Given the description of an element on the screen output the (x, y) to click on. 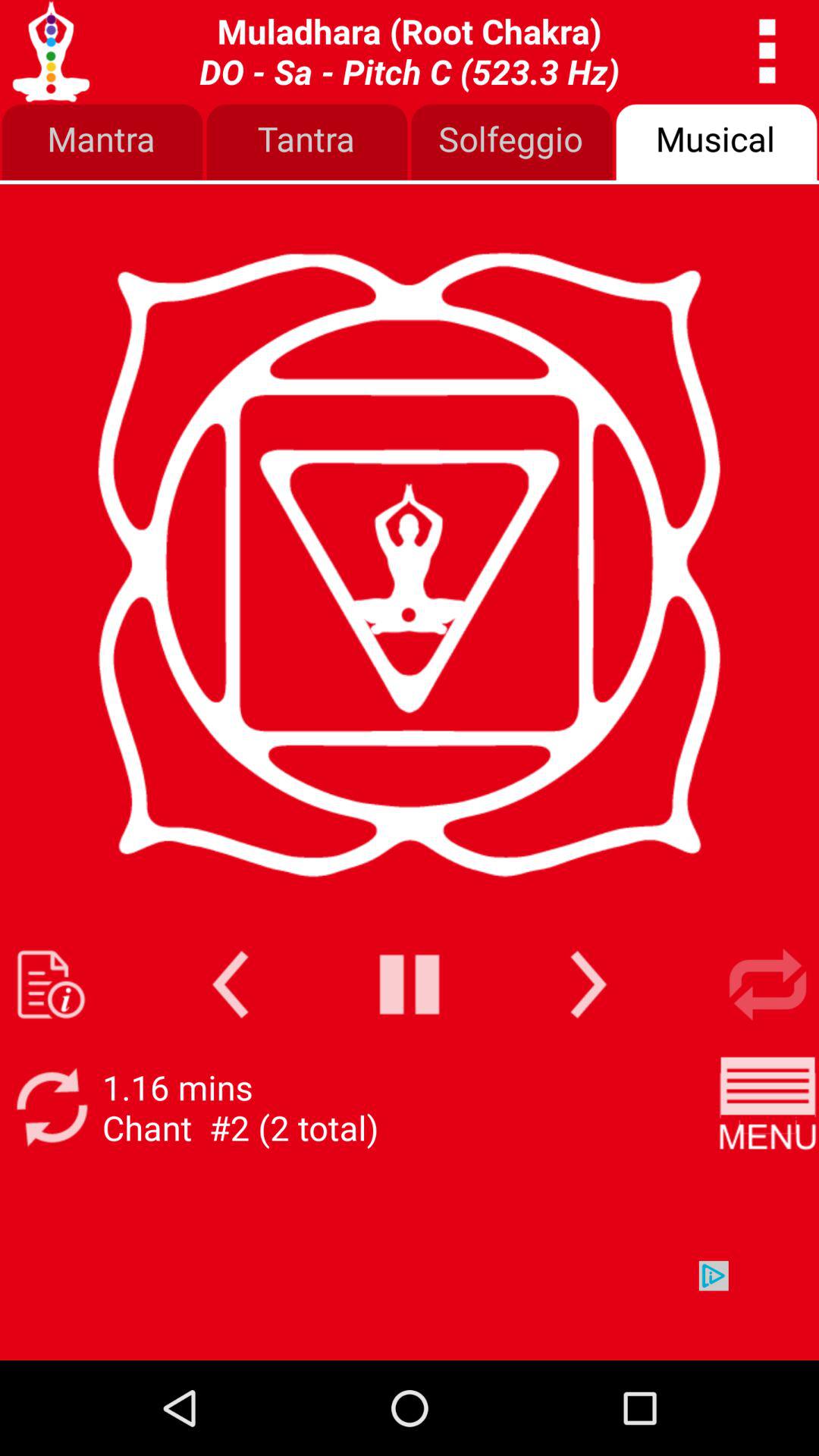
repeat playlist (767, 984)
